Given the description of an element on the screen output the (x, y) to click on. 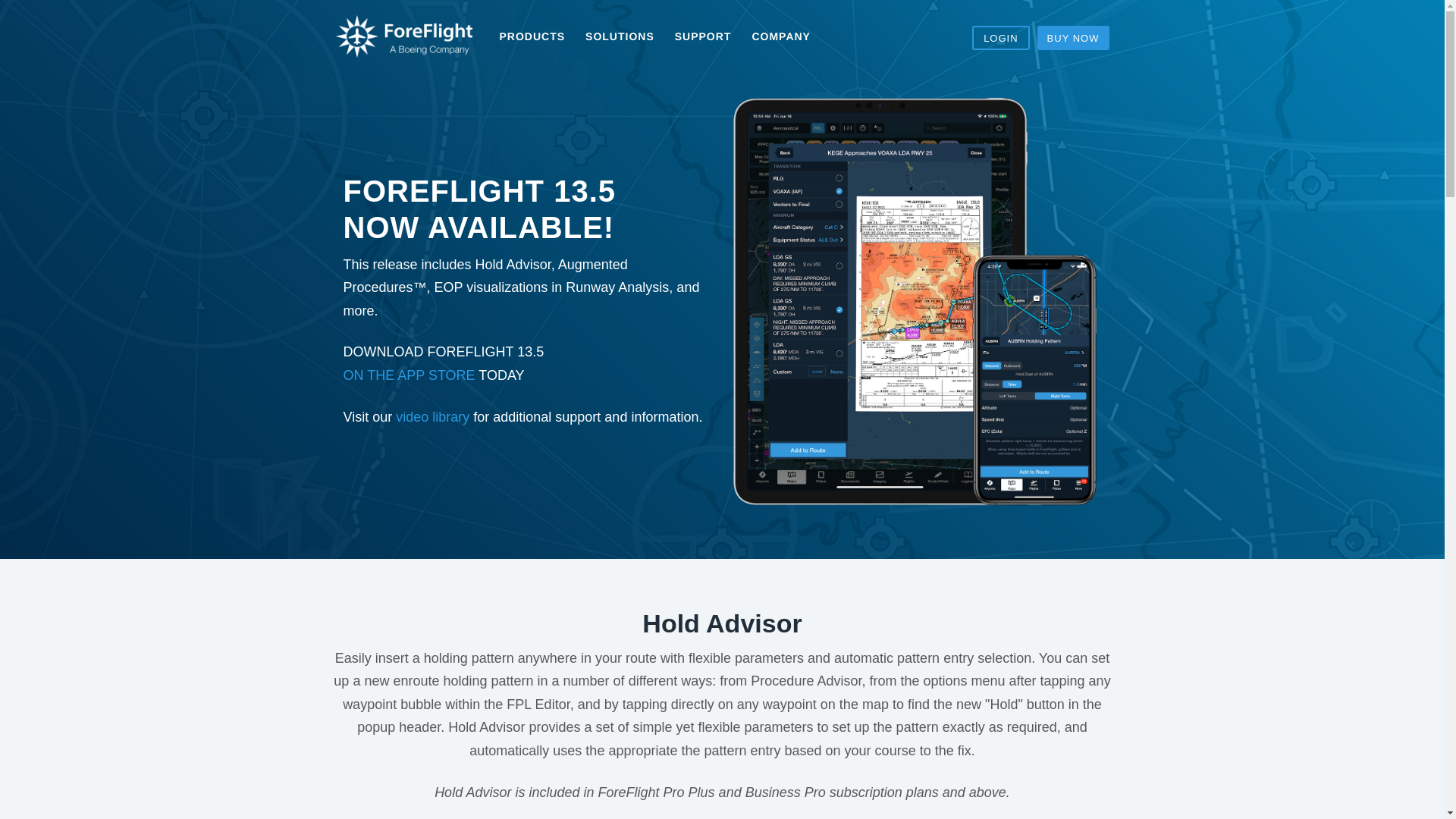
LOGIN (1000, 37)
ForeFlight (402, 36)
BUY NOW (1072, 37)
